Given the description of an element on the screen output the (x, y) to click on. 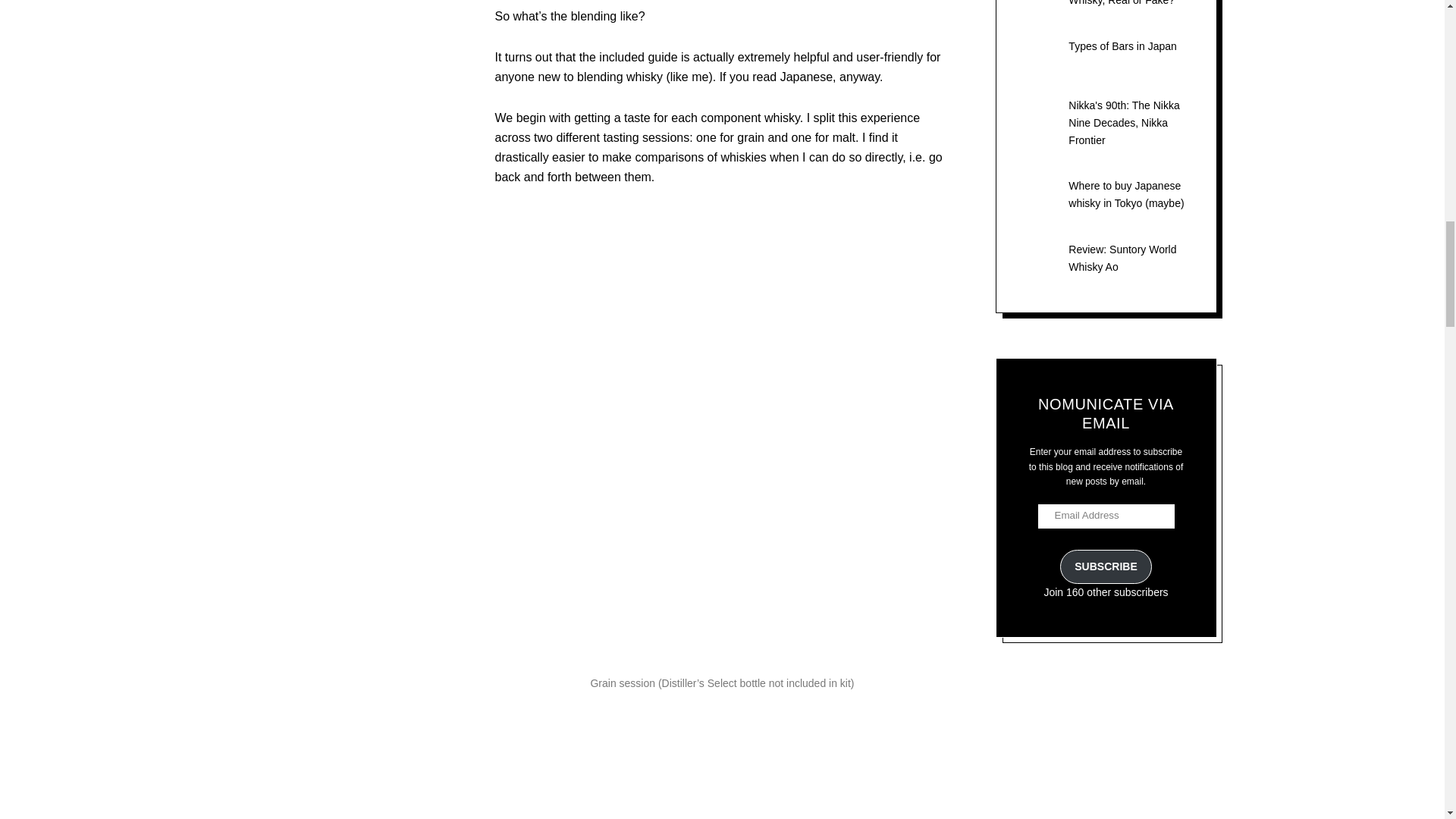
Infographic: Japanese Whisky, Real or Fake? (1121, 3)
